Given the description of an element on the screen output the (x, y) to click on. 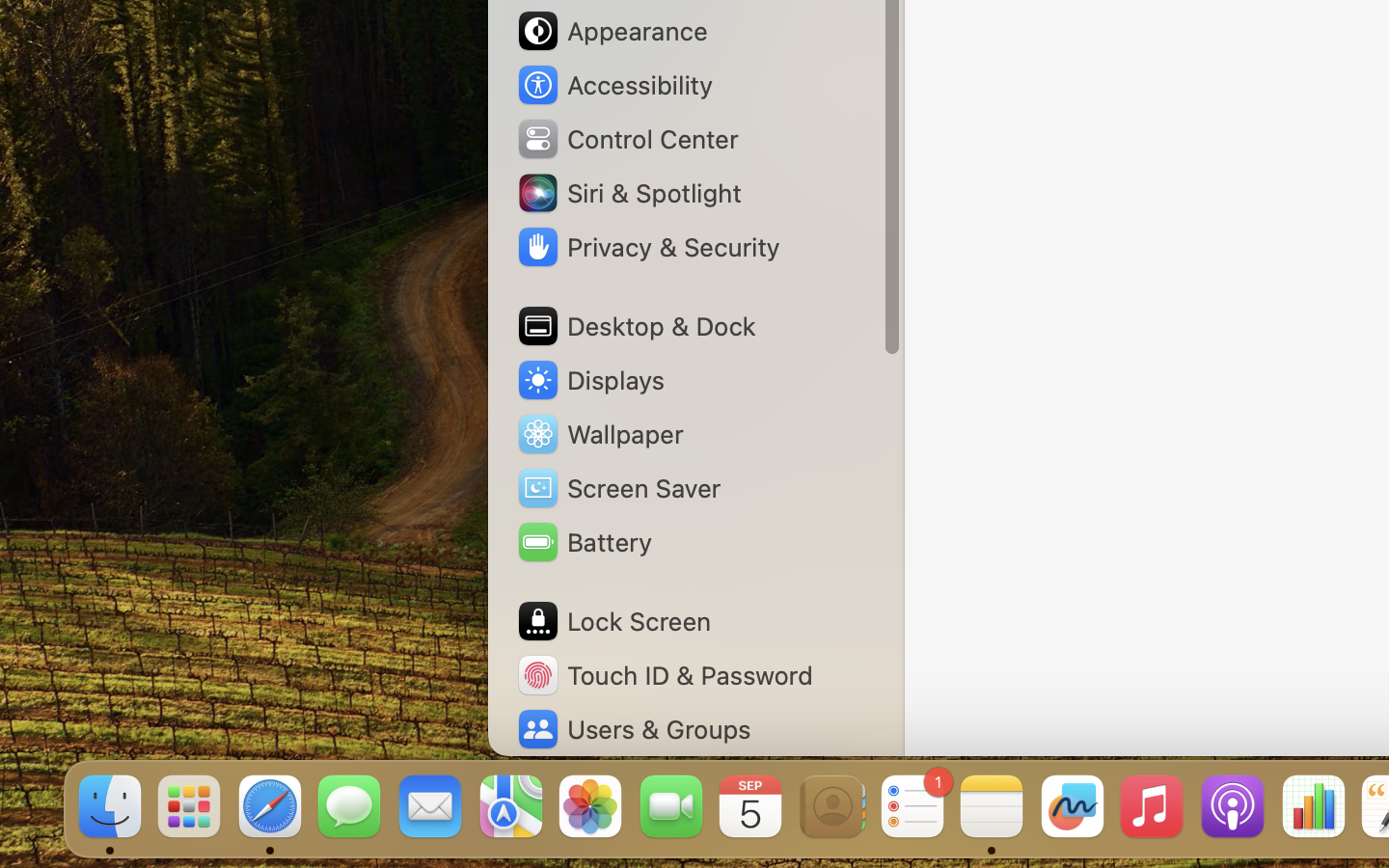
Touch ID & Password Element type: AXStaticText (664, 674)
Privacy & Security Element type: AXStaticText (647, 246)
Battery Element type: AXStaticText (583, 541)
